Given the description of an element on the screen output the (x, y) to click on. 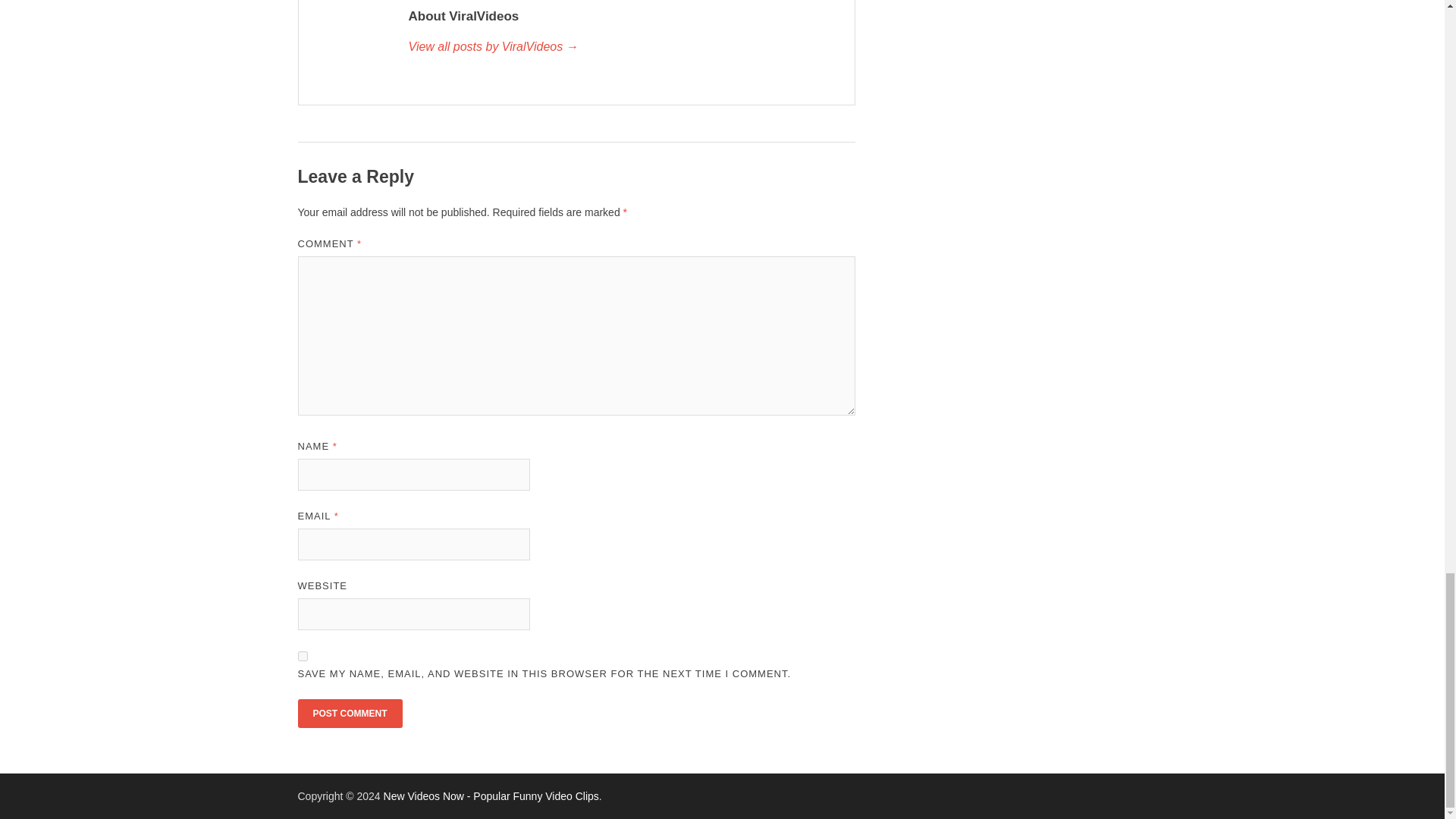
Post Comment (349, 713)
yes (302, 655)
